Given the description of an element on the screen output the (x, y) to click on. 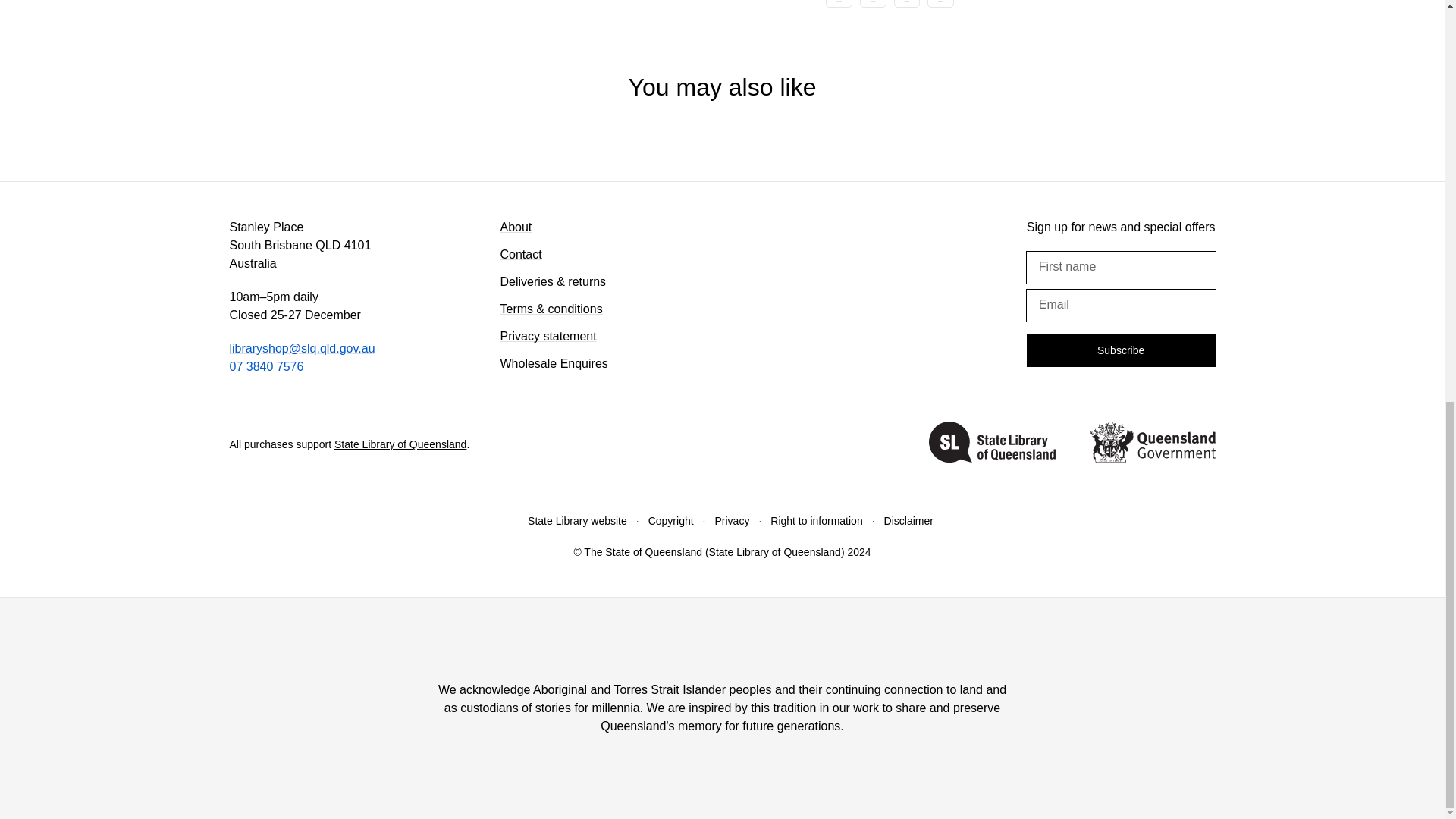
Go to Queensland Government homepage (1151, 444)
Go to Queensland State Library homepage (992, 444)
tel:07 3840 7576 (265, 366)
